Given the description of an element on the screen output the (x, y) to click on. 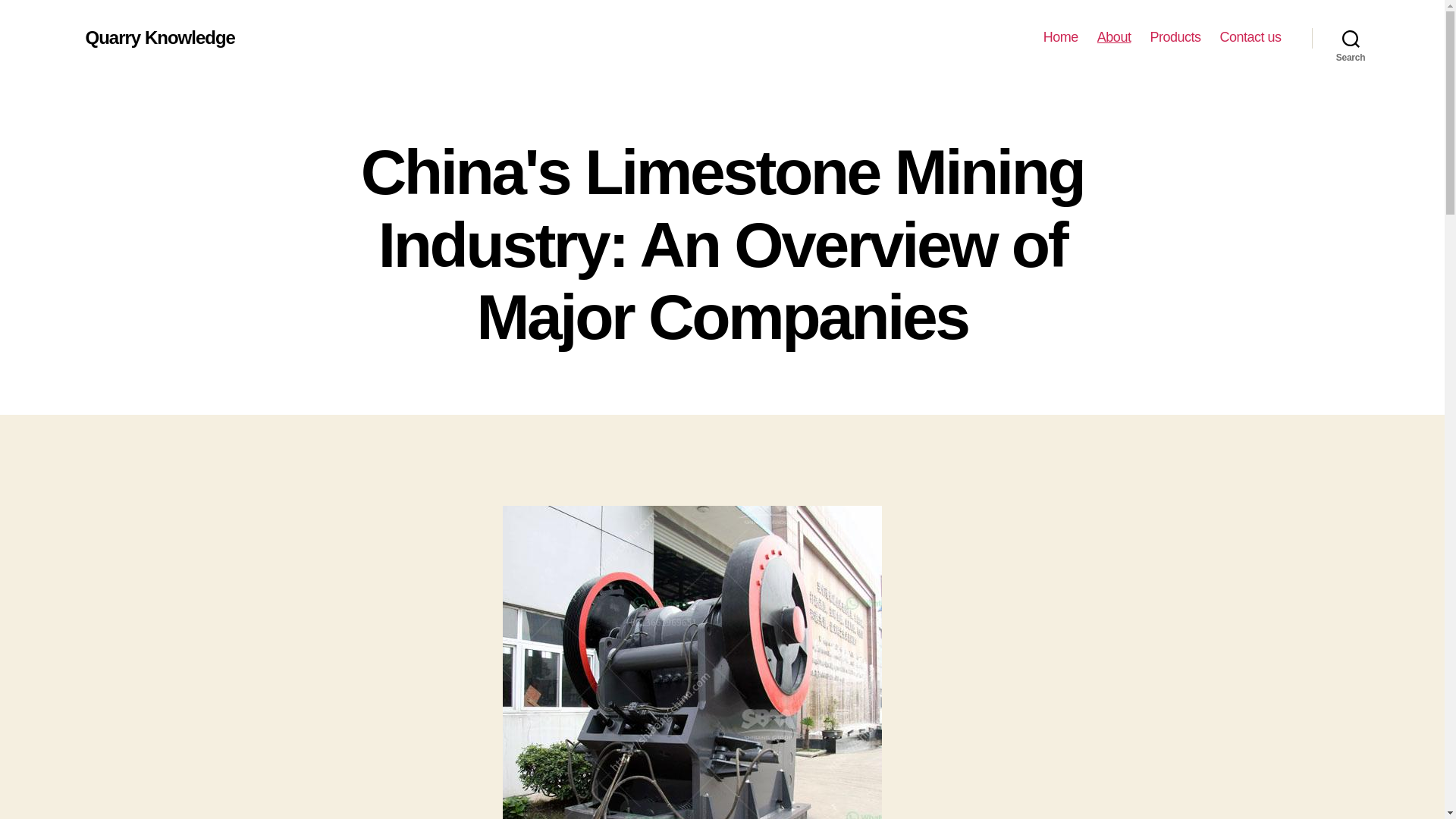
Products (1174, 37)
Home (1060, 37)
Contact us (1250, 37)
About (1114, 37)
Search (1350, 37)
Quarry Knowledge (159, 37)
